Given the description of an element on the screen output the (x, y) to click on. 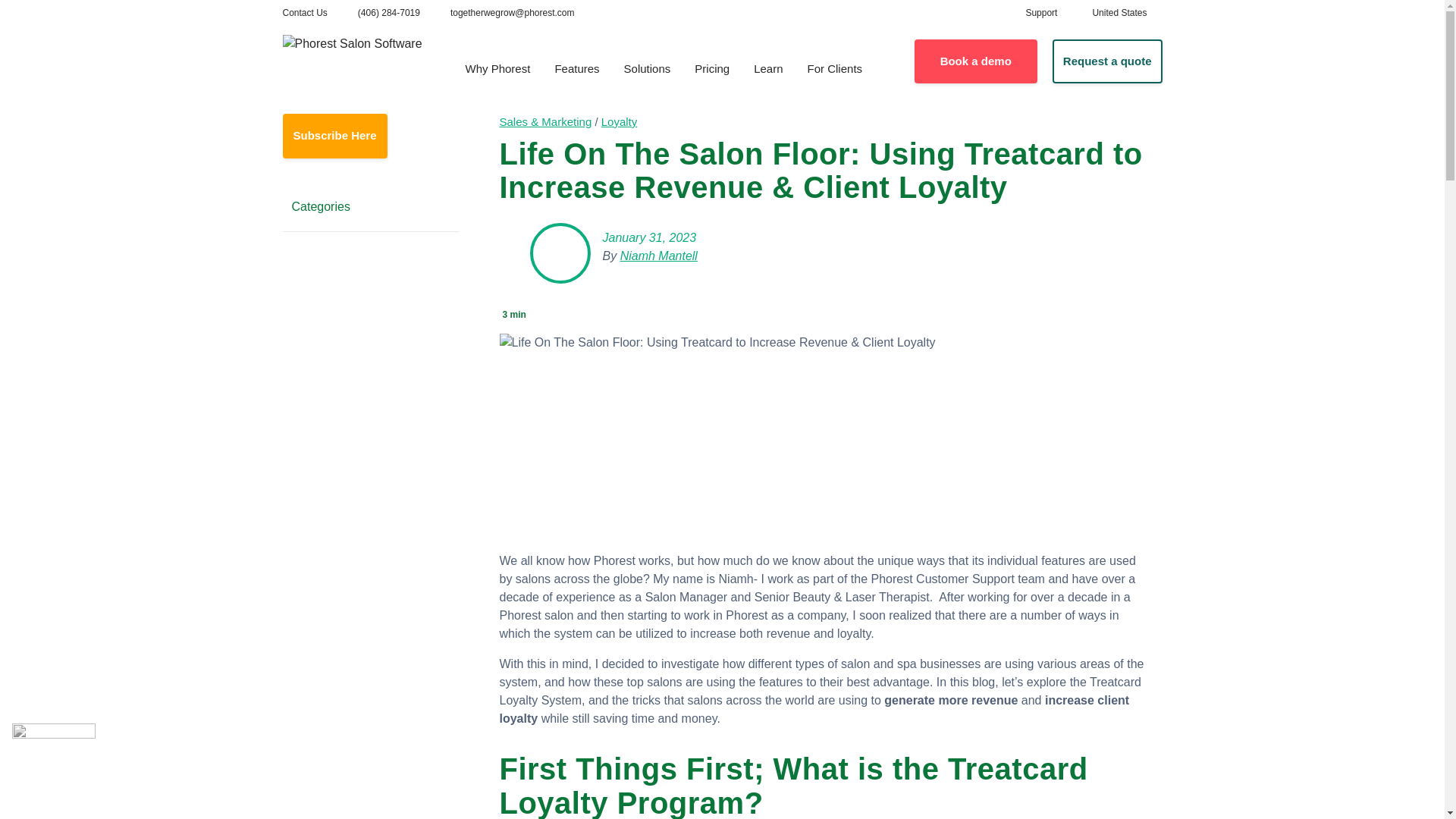
Contact Us (304, 12)
Support (1041, 12)
Features (576, 69)
Why Phorest (497, 69)
